Given the description of an element on the screen output the (x, y) to click on. 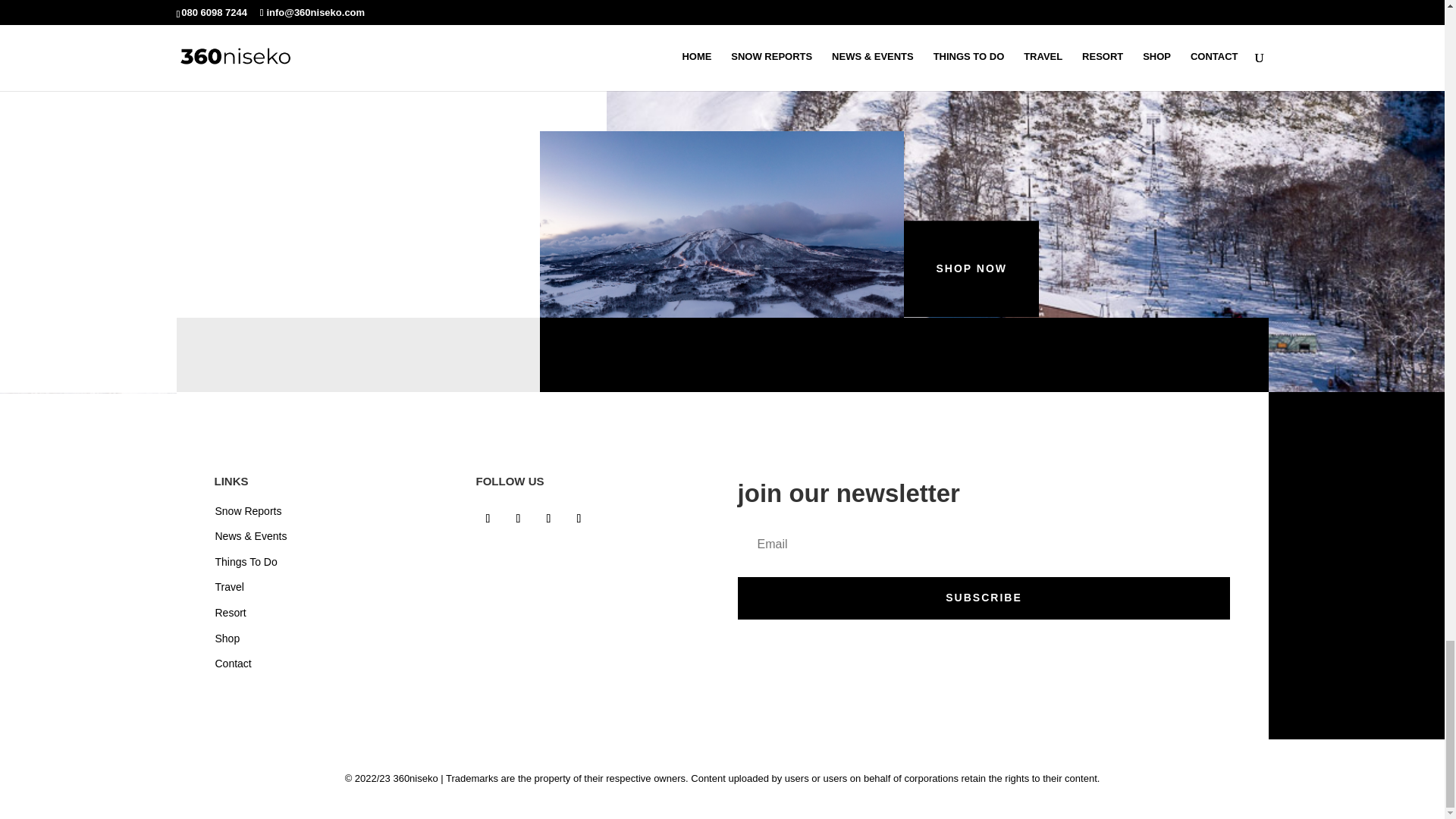
Follow on X (548, 518)
Follow on Facebook (488, 518)
niseko-2021-12-26 (722, 224)
Follow on Vimeo (579, 518)
Follow on Instagram (518, 518)
